Given the description of an element on the screen output the (x, y) to click on. 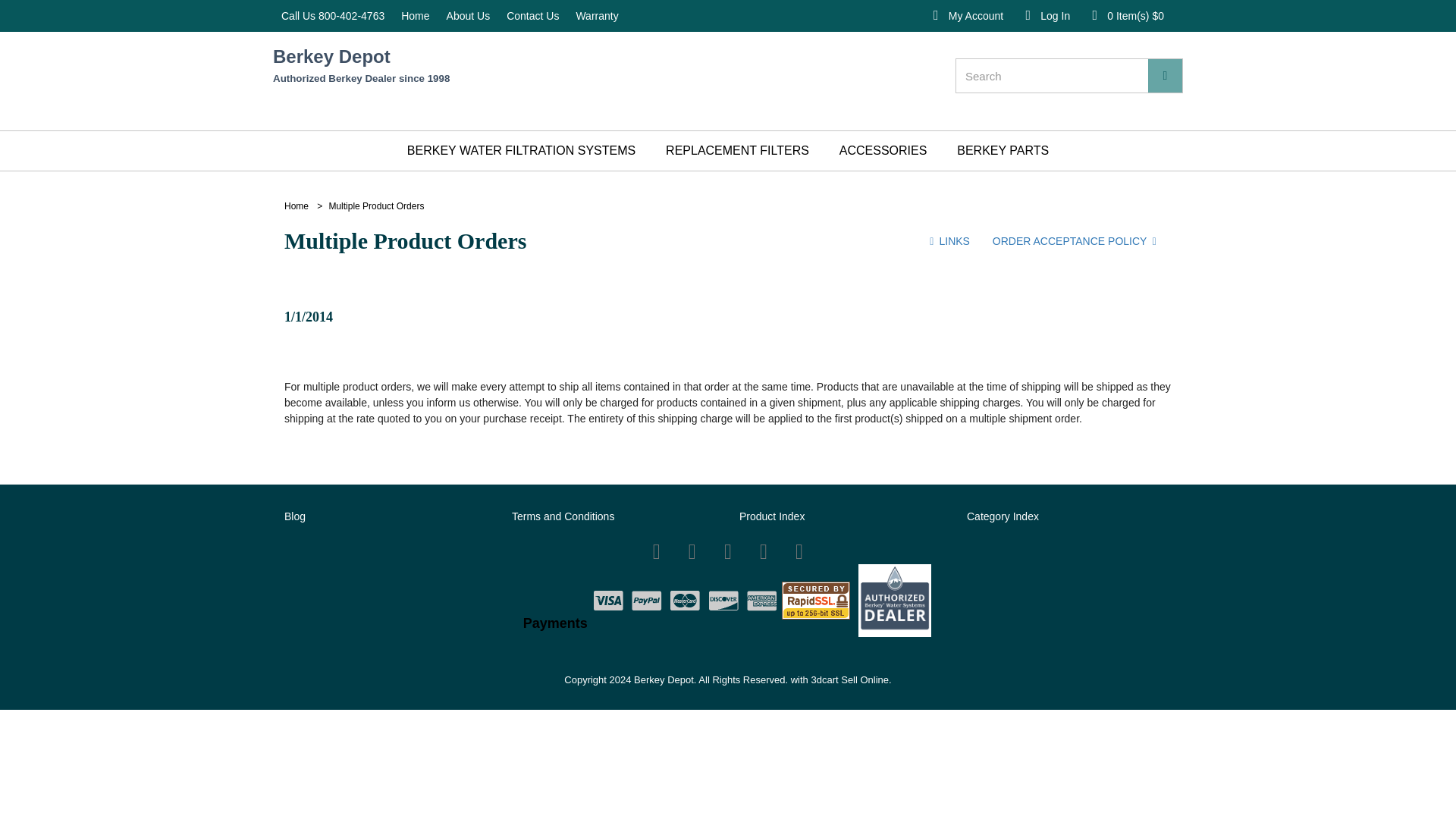
ORDER ACCEPTANCE POLICY (1077, 241)
BERKEY WATER FILTRATION SYSTEMS (521, 150)
Blog (294, 516)
Category Index (1002, 516)
About Us (16, 15)
ACCESSORIES (882, 150)
Product Index (772, 516)
Warranty (202, 15)
Home (295, 205)
LINKS (946, 241)
Contact Us (100, 15)
REPLACEMENT FILTERS (737, 150)
with 3dcart Sell Online (839, 679)
Terms and Conditions (563, 516)
